Given the description of an element on the screen output the (x, y) to click on. 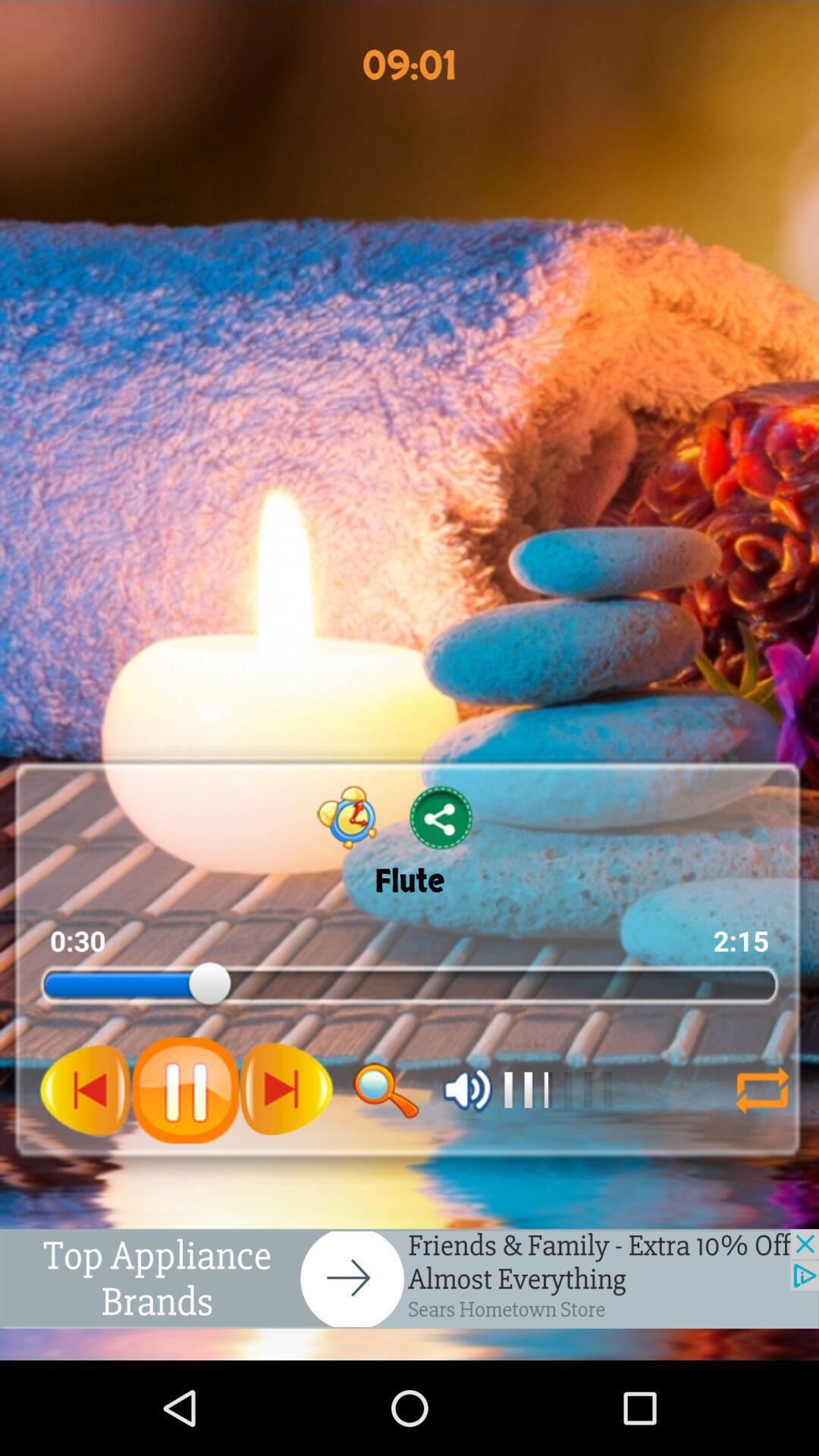
shuffle songs (761, 1089)
